Given the description of an element on the screen output the (x, y) to click on. 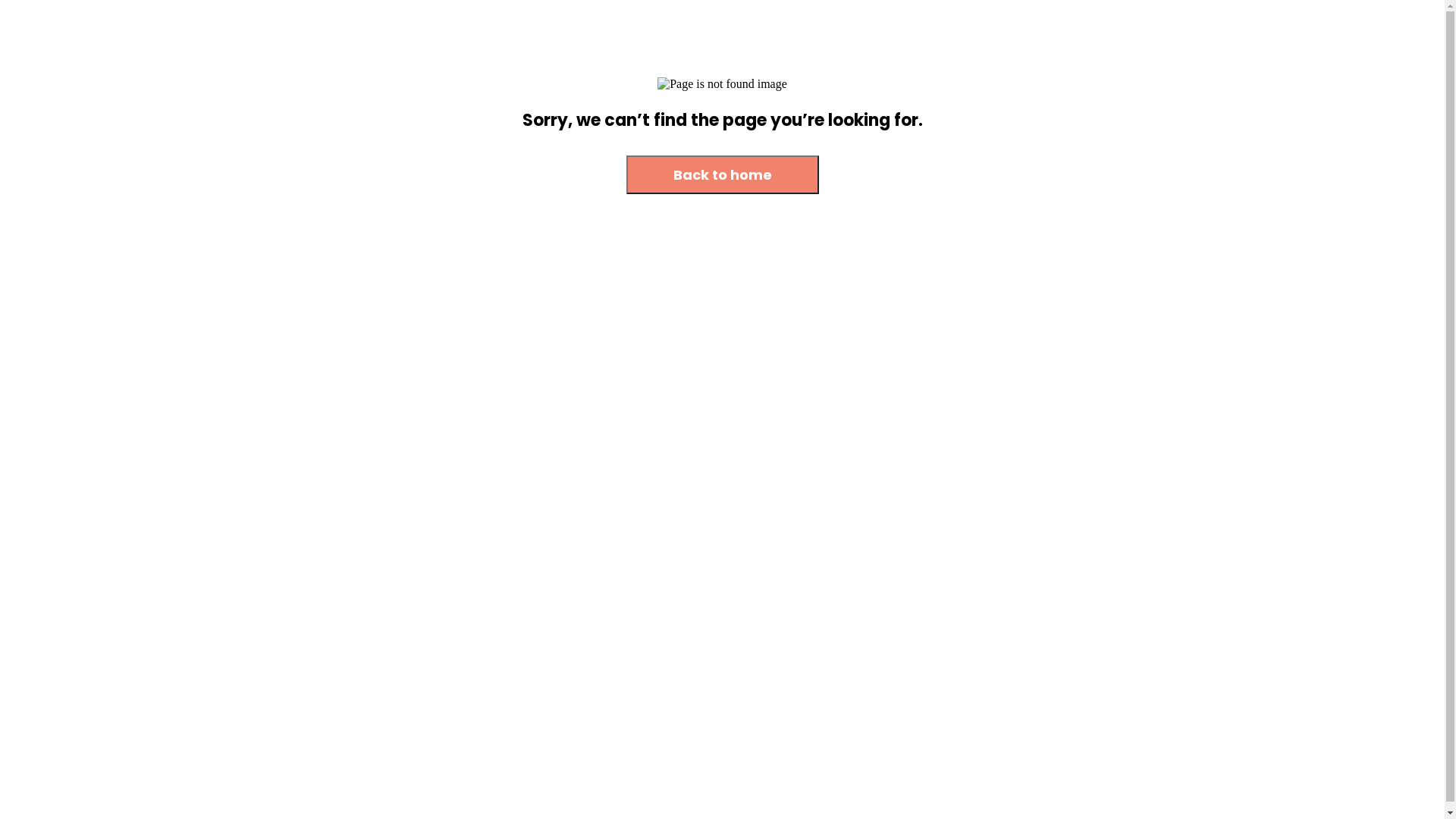
Back to home Element type: text (722, 174)
Back to home Element type: text (722, 175)
